Given the description of an element on the screen output the (x, y) to click on. 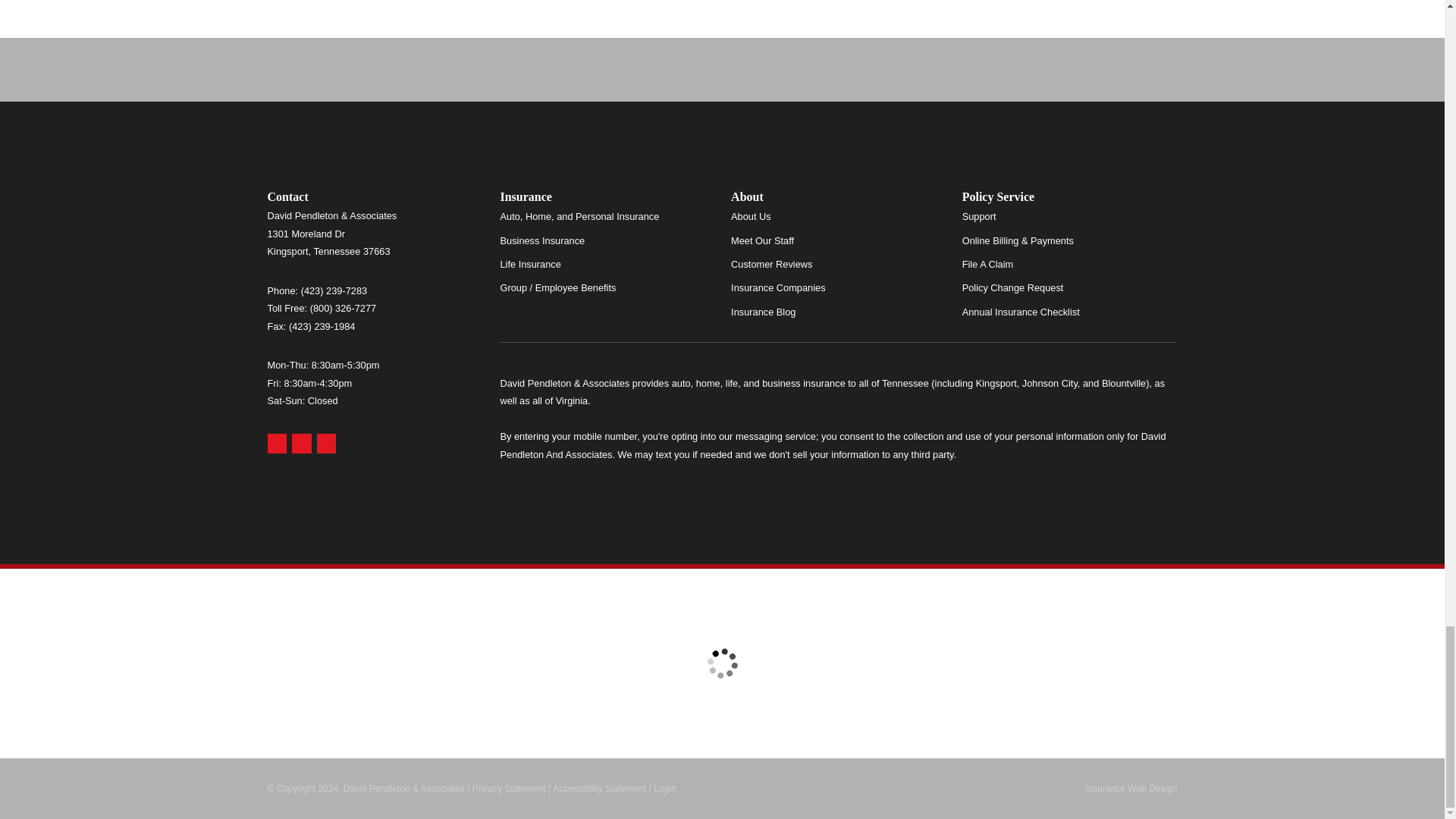
Facebook (326, 443)
Yelp (301, 443)
Google Maps (276, 443)
